Given the description of an element on the screen output the (x, y) to click on. 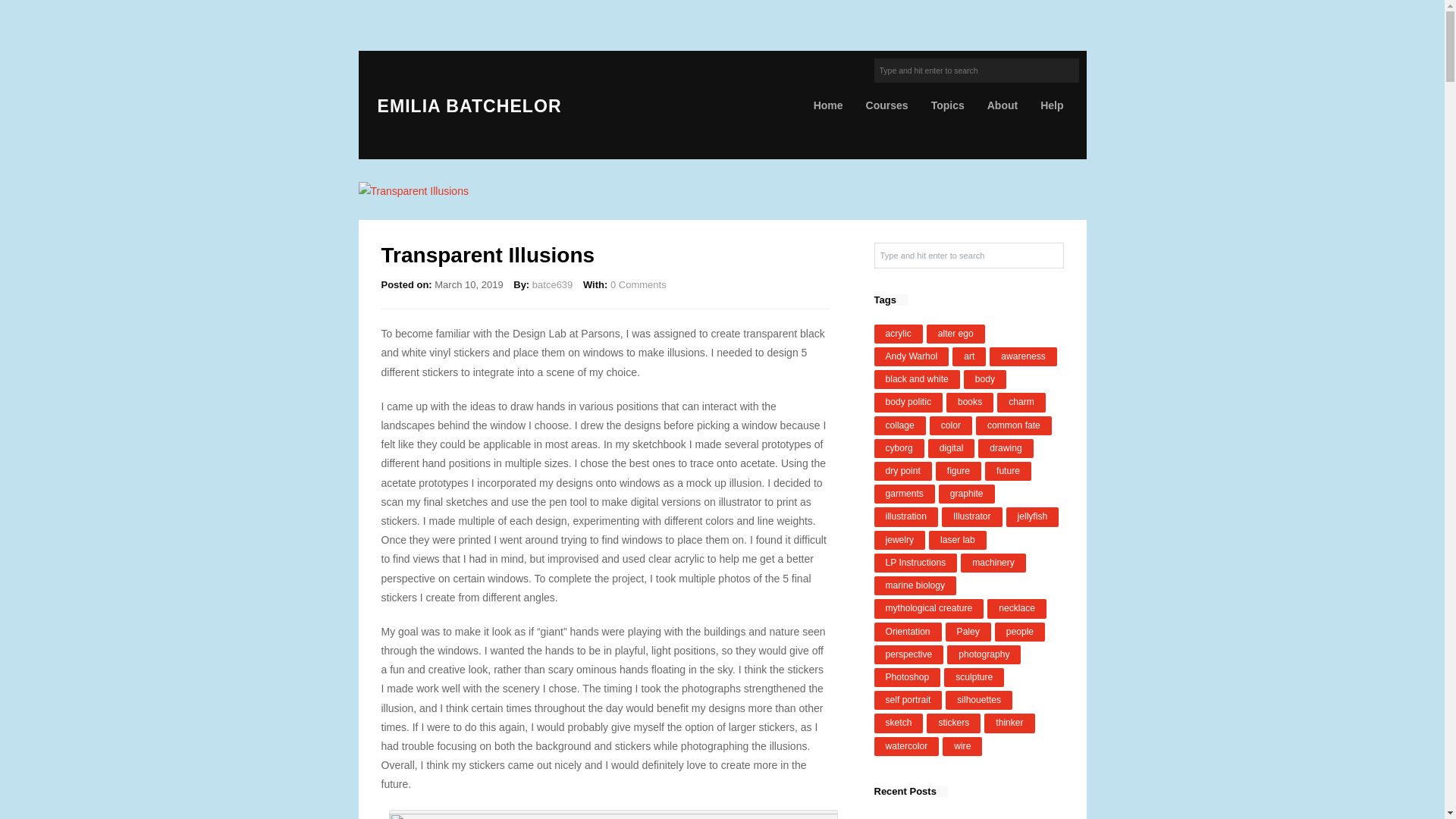
Emilia Batchelor (465, 106)
Topics (947, 105)
Type and hit enter to search (967, 255)
With: 0 Comments (624, 284)
Type and hit enter to search (967, 255)
Posts by batce639 (552, 284)
EMILIA BATCHELOR (465, 106)
Home (828, 105)
About (1002, 105)
Type and hit enter to search (975, 70)
View Full-Size (722, 190)
batce639 (552, 284)
Type and hit enter to search (975, 70)
Courses (887, 105)
Help (1051, 105)
